Given the description of an element on the screen output the (x, y) to click on. 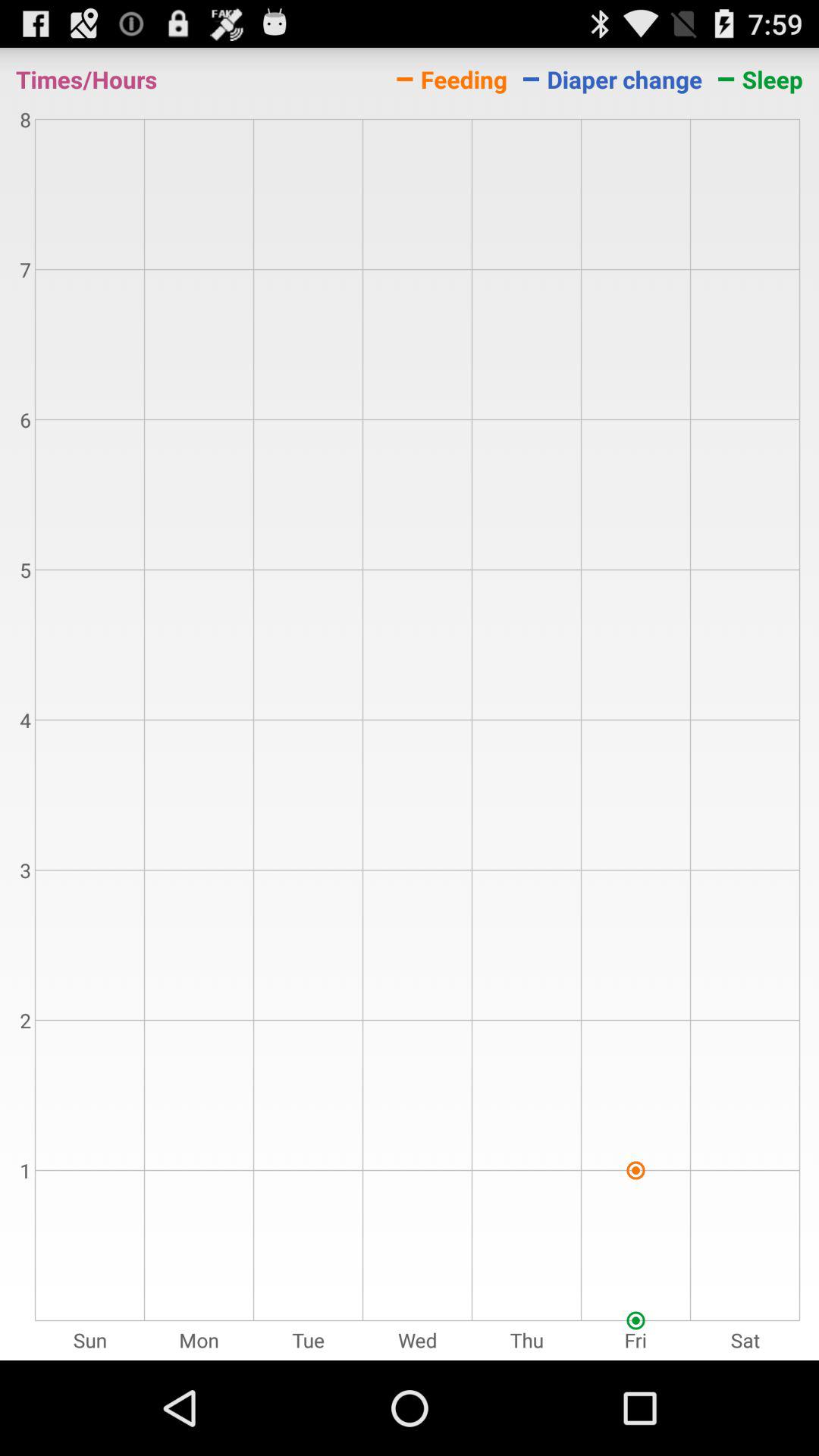
tap the item at the center (409, 735)
